Given the description of an element on the screen output the (x, y) to click on. 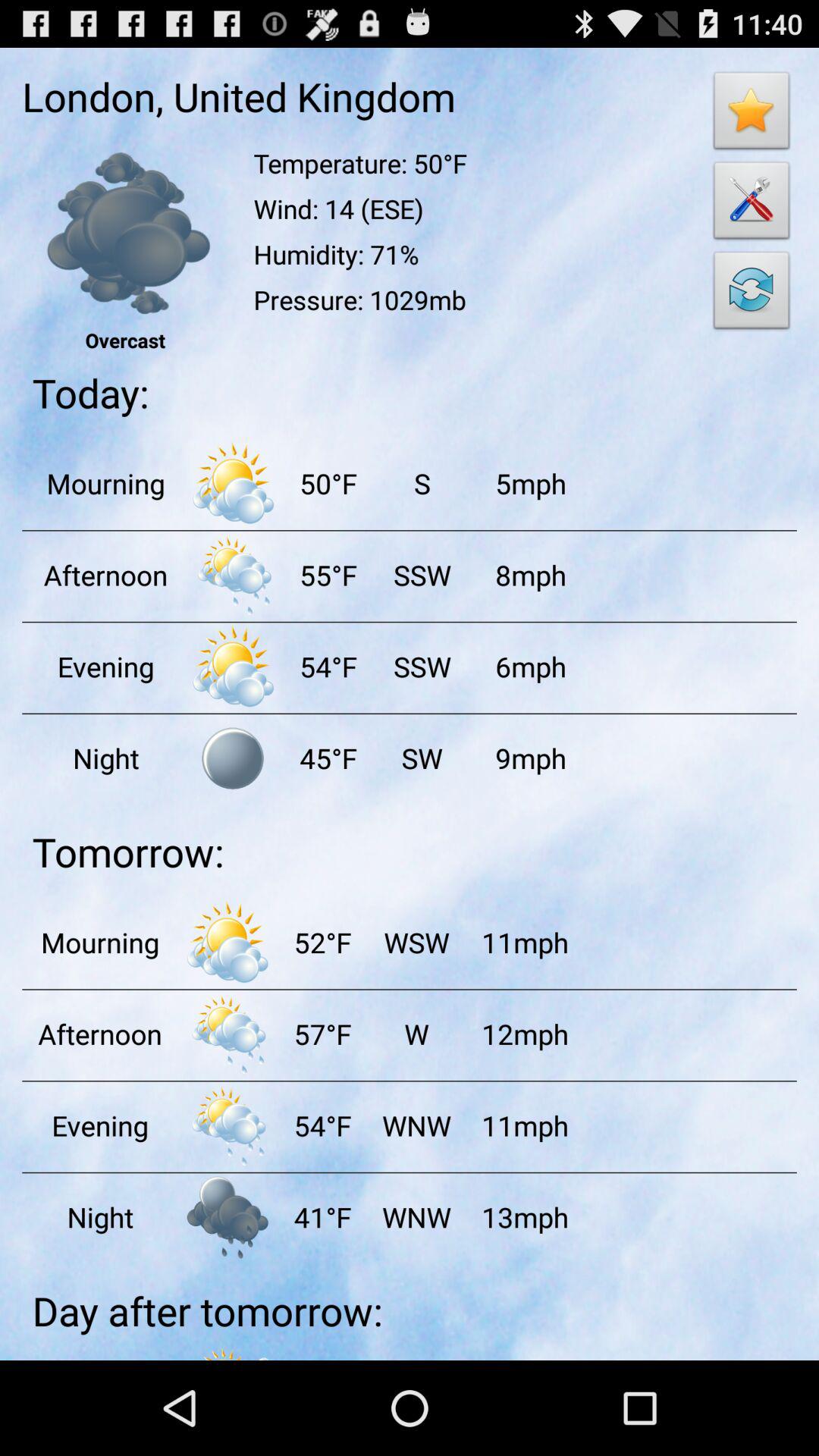
temprature (232, 574)
